Given the description of an element on the screen output the (x, y) to click on. 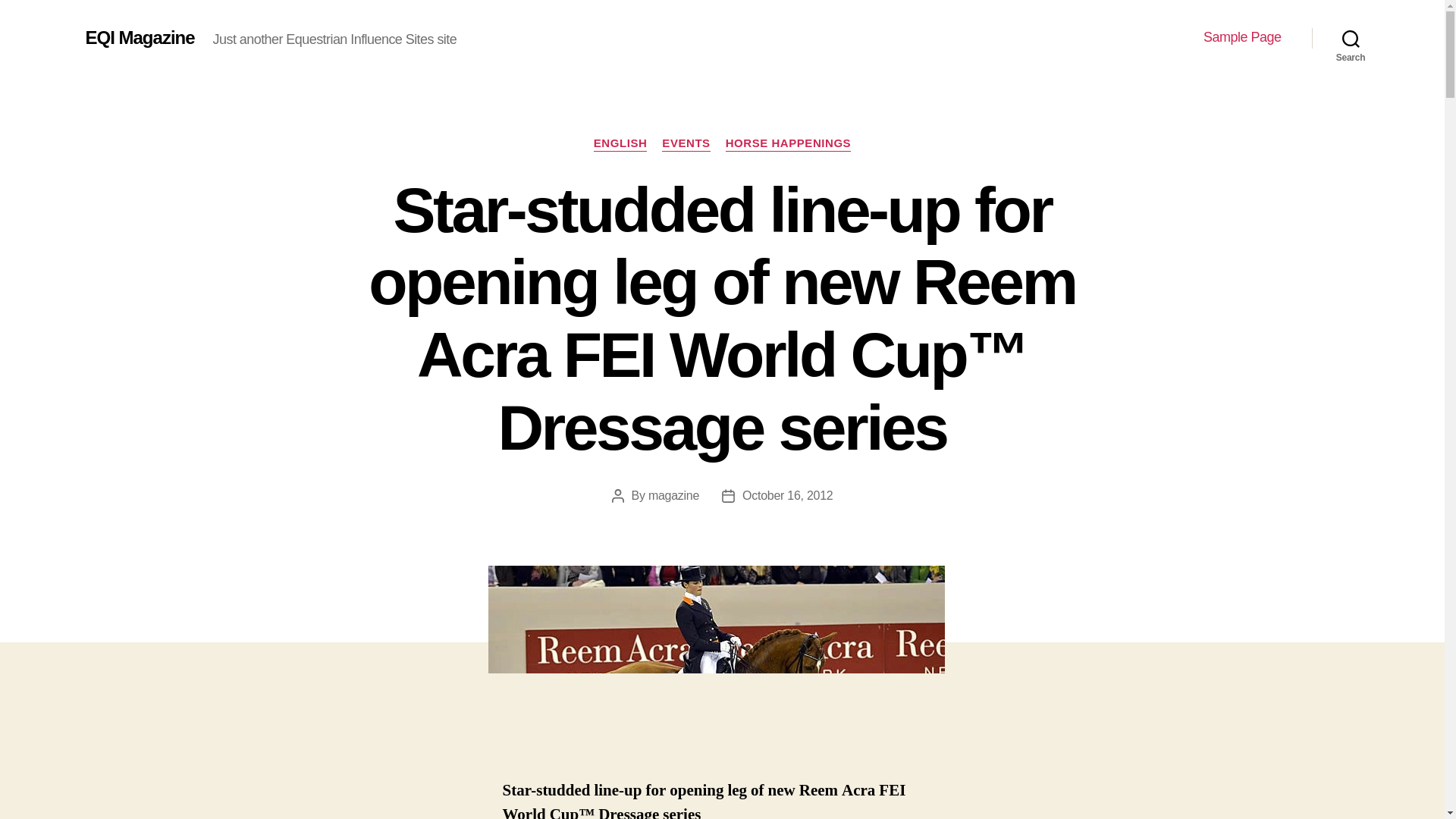
Search (1350, 37)
HORSE HAPPENINGS (788, 143)
magazine (672, 495)
Sample Page (1242, 37)
ENGLISH (620, 143)
EVENTS (686, 143)
October 16, 2012 (787, 495)
EQI Magazine (138, 37)
